Given the description of an element on the screen output the (x, y) to click on. 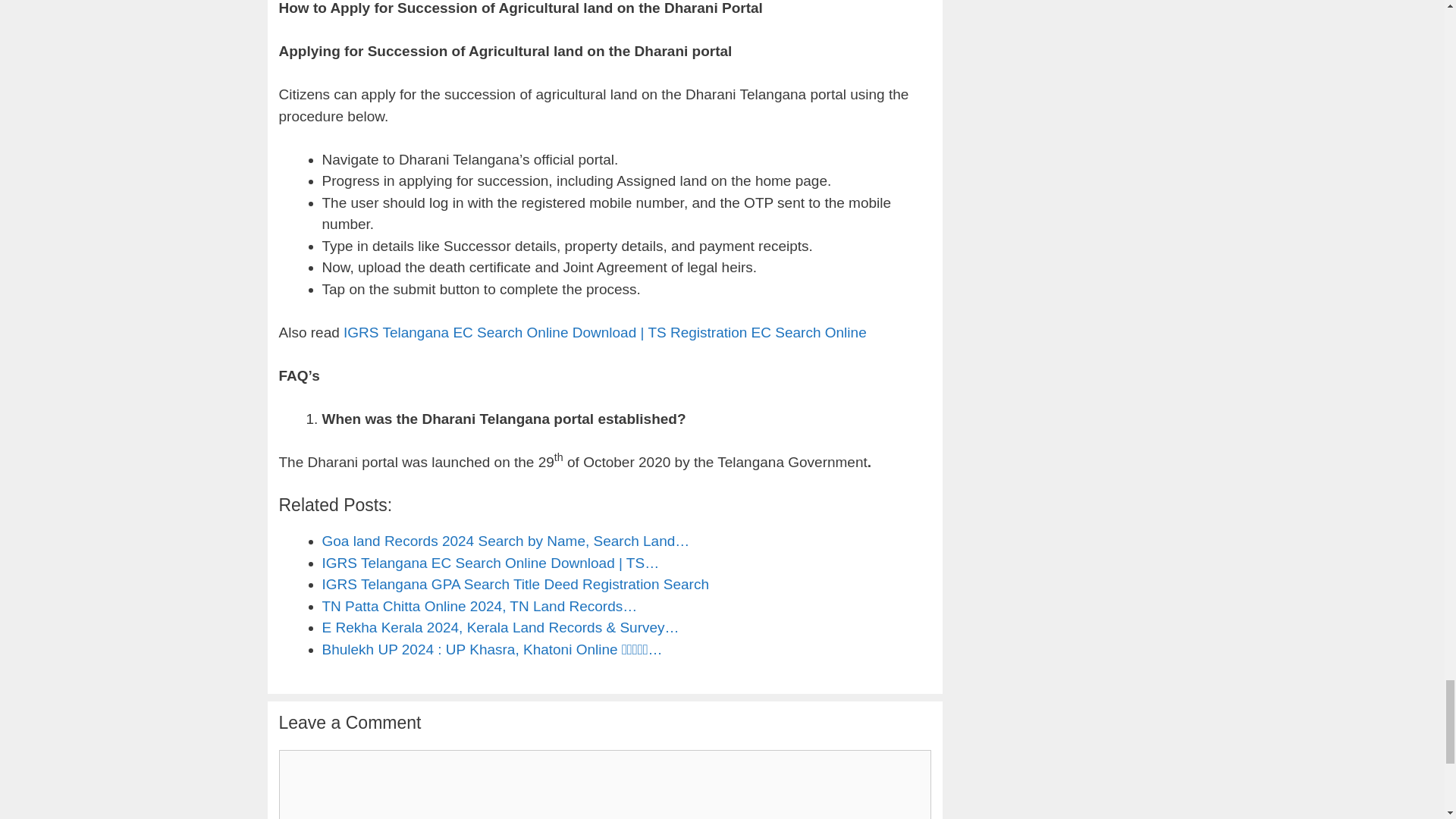
IGRS Telangana GPA Search Title Deed Registration Search (514, 584)
